Given the description of an element on the screen output the (x, y) to click on. 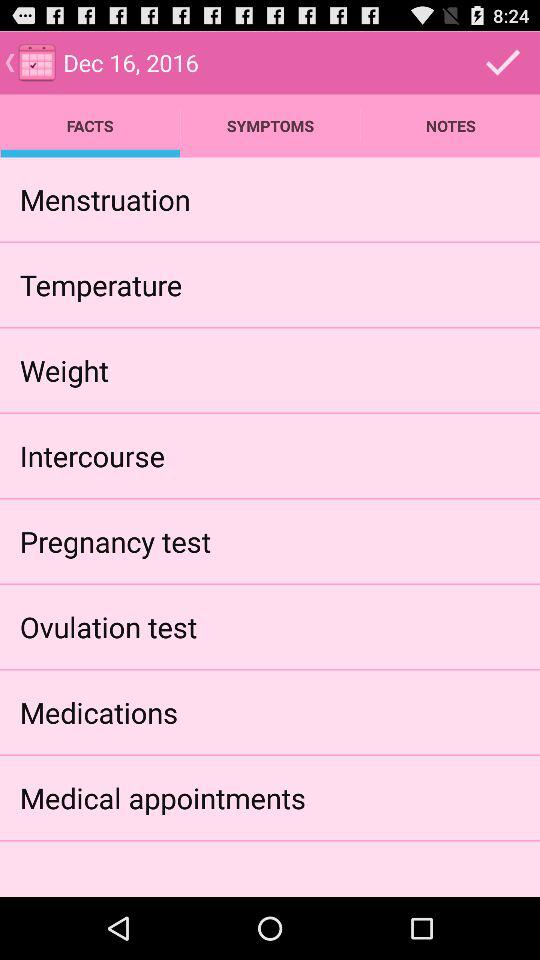
tap the icon below pregnancy test (108, 626)
